Given the description of an element on the screen output the (x, y) to click on. 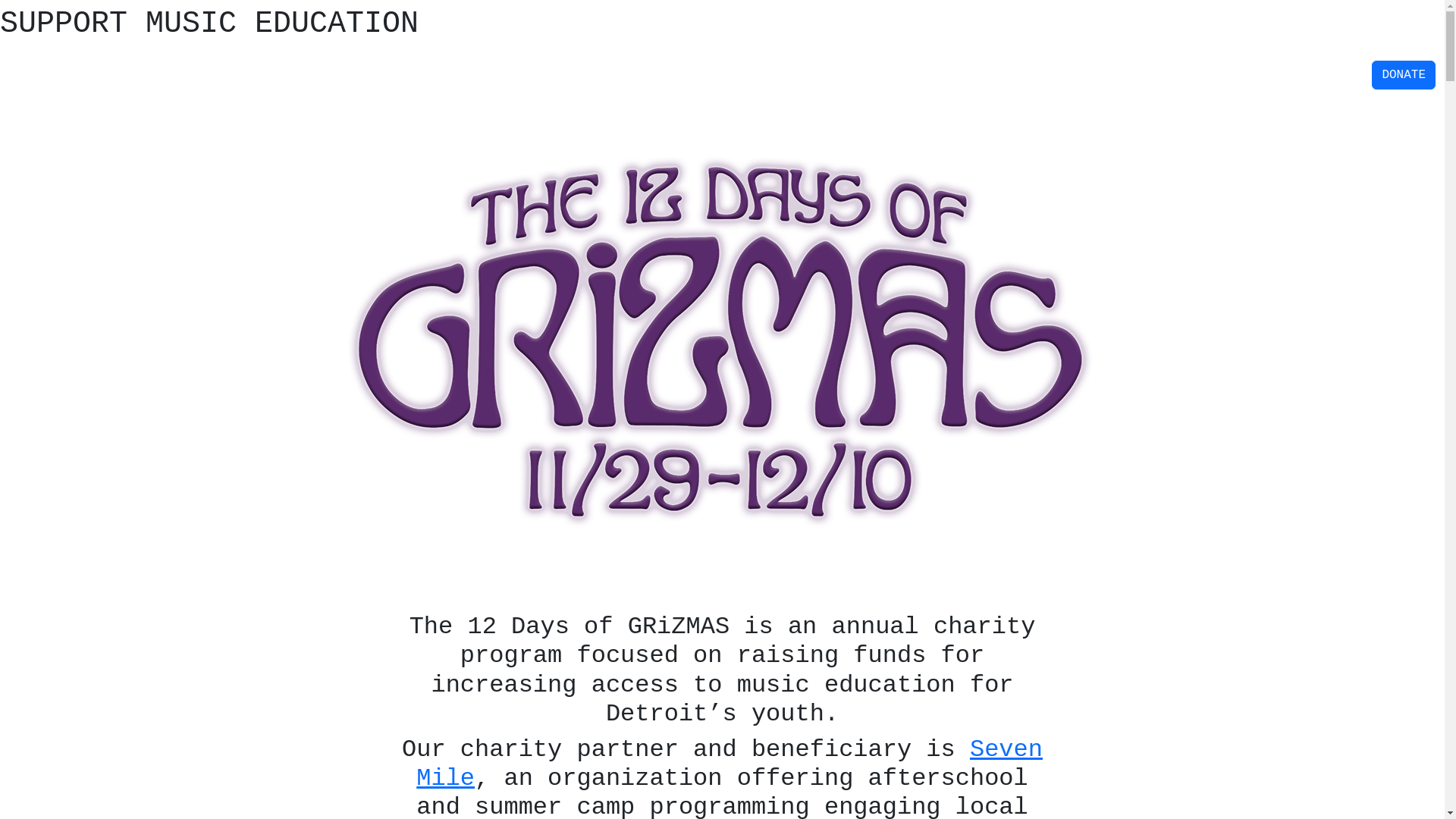
Seven Mile Element type: text (729, 763)
DONATE Element type: text (1403, 74)
